Given the description of an element on the screen output the (x, y) to click on. 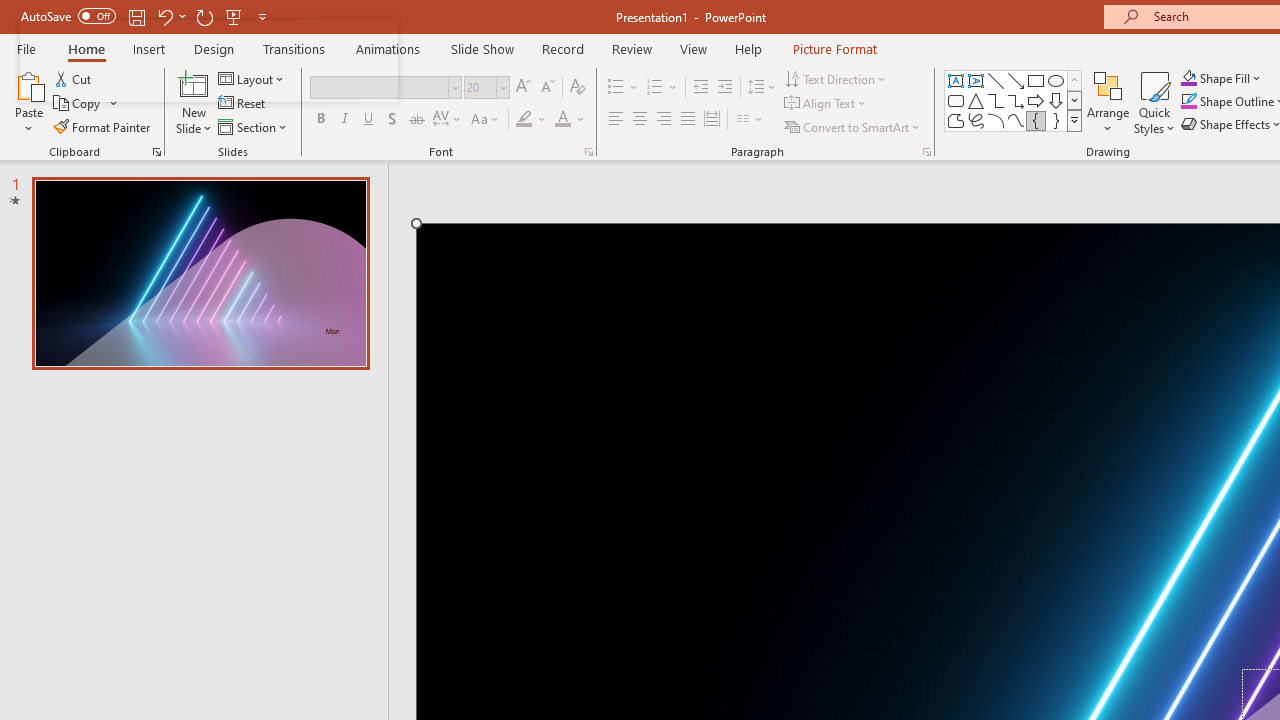
Convert to SmartArt (853, 126)
Quick Styles (1154, 102)
Freeform: Shape (955, 120)
Shadow (392, 119)
Bullets (616, 87)
Vertical Text Box (975, 80)
AutomationID: ShapesInsertGallery (1014, 100)
Center (639, 119)
Paragraph... (926, 151)
Text Highlight Color (531, 119)
Shape Fill Orange, Accent 2 (1188, 78)
File Tab (26, 48)
Justify (687, 119)
More Options (1232, 78)
